Given the description of an element on the screen output the (x, y) to click on. 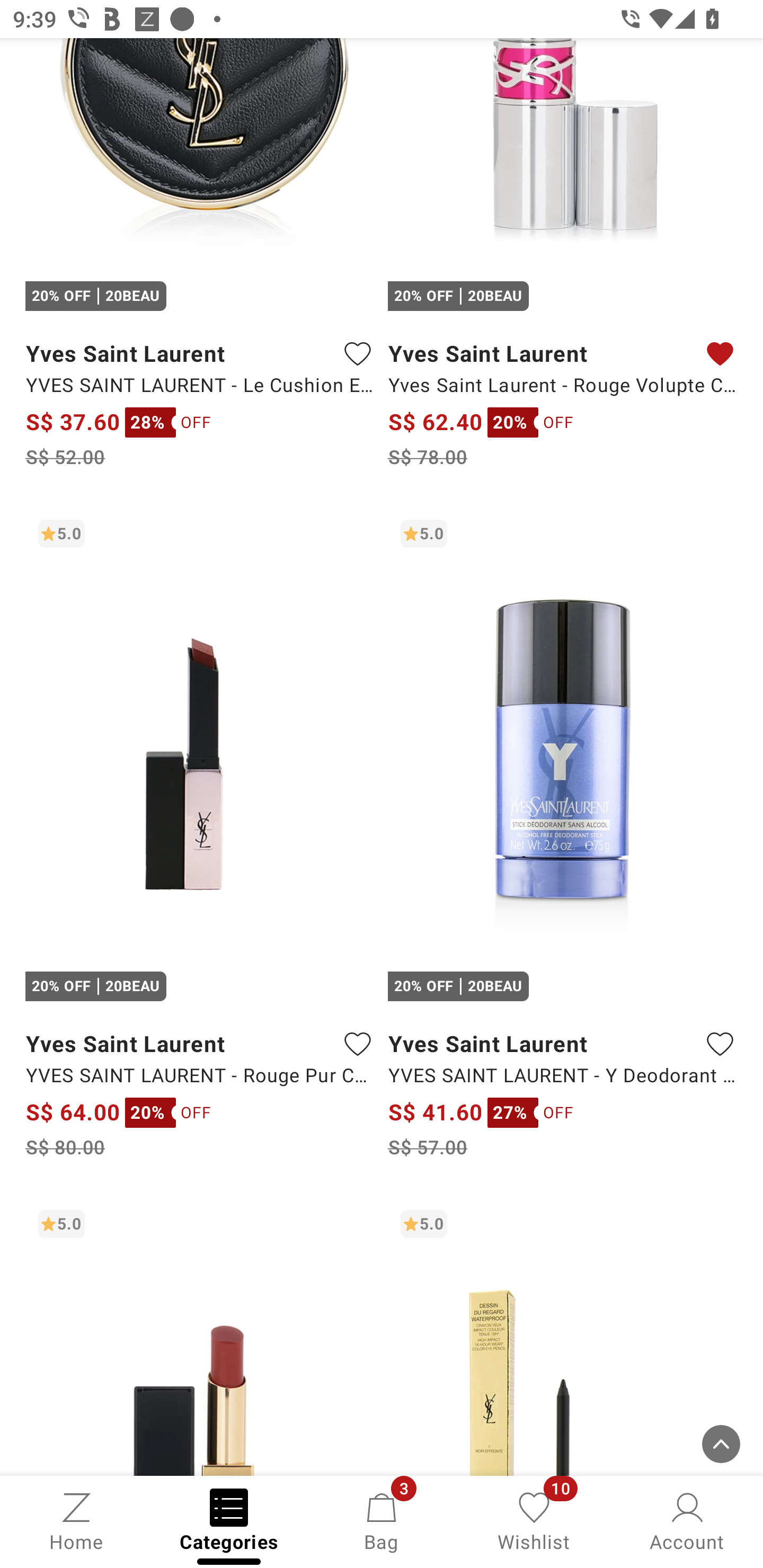
5.0 (200, 1336)
5.0 (562, 1336)
Home (76, 1519)
Bag, 3 new notifications Bag (381, 1519)
Wishlist, 10 new notifications Wishlist (533, 1519)
Account (686, 1519)
